Given the description of an element on the screen output the (x, y) to click on. 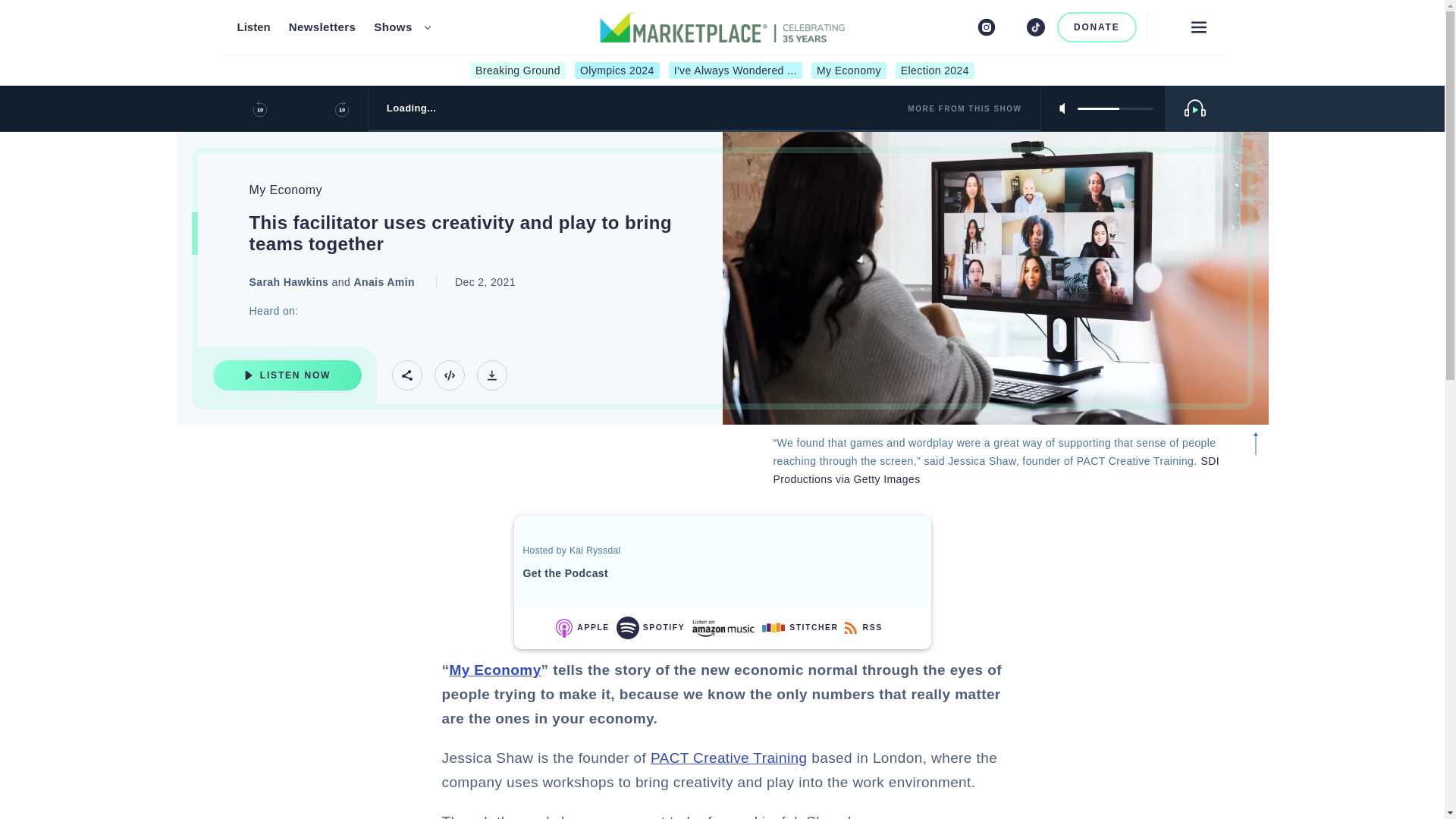
5 (1115, 108)
Search (1164, 27)
DONATE (1097, 27)
volume (1115, 108)
Download Track (491, 374)
Facebook (962, 27)
TikTok (1035, 27)
Instagram (985, 27)
Menu (1198, 27)
Youtube (1011, 27)
